Given the description of an element on the screen output the (x, y) to click on. 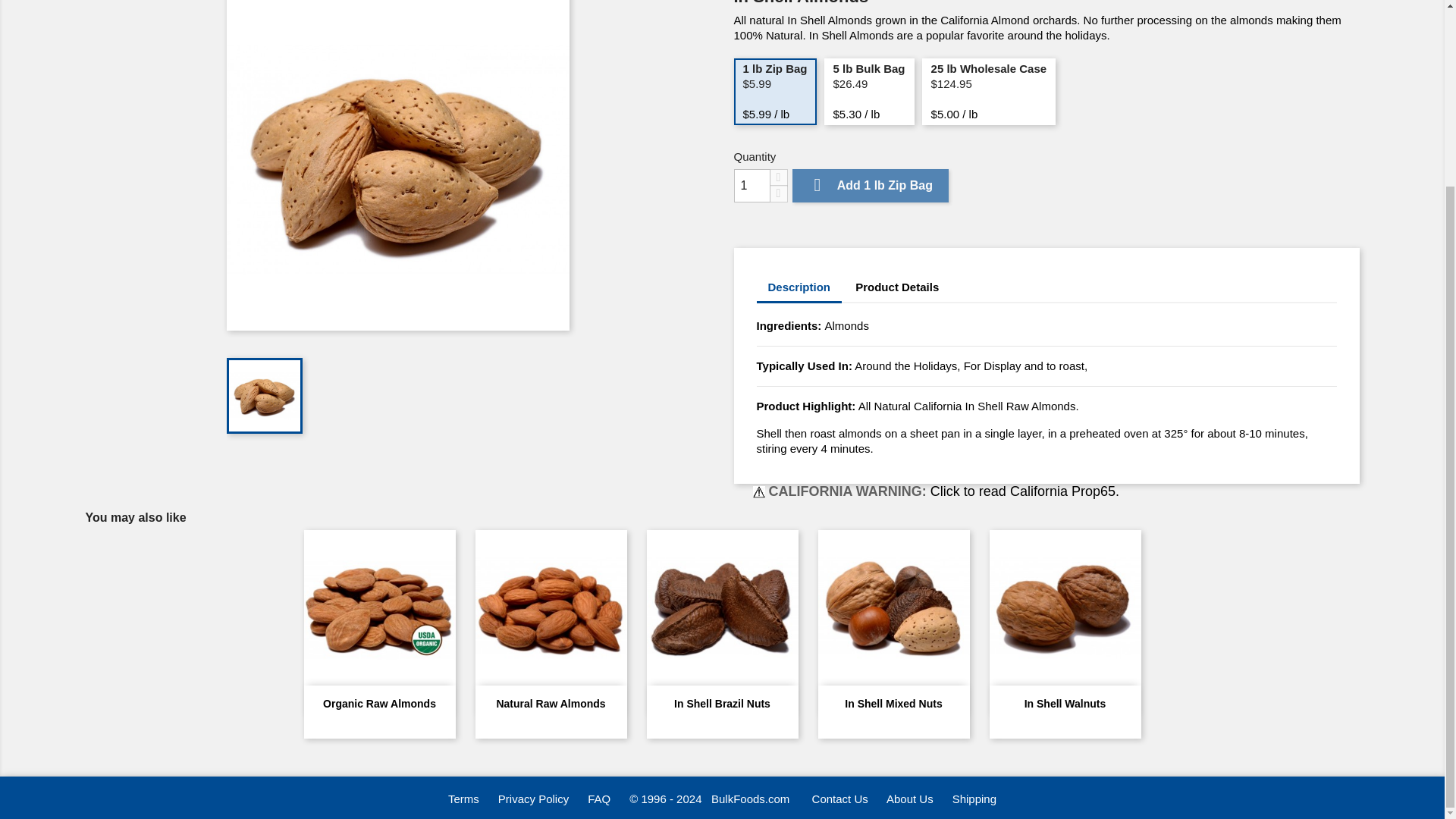
1 (751, 185)
Almonds in Shell (398, 165)
Click to read California Prop65. (1024, 491)
Product Details (897, 287)
Natural Raw Almonds (550, 703)
Description (800, 288)
In Shell Brazil Nuts (722, 703)
Organic Raw Almonds (379, 703)
In Shell Mixed Nuts (893, 703)
Almonds in Shell (264, 395)
